Given the description of an element on the screen output the (x, y) to click on. 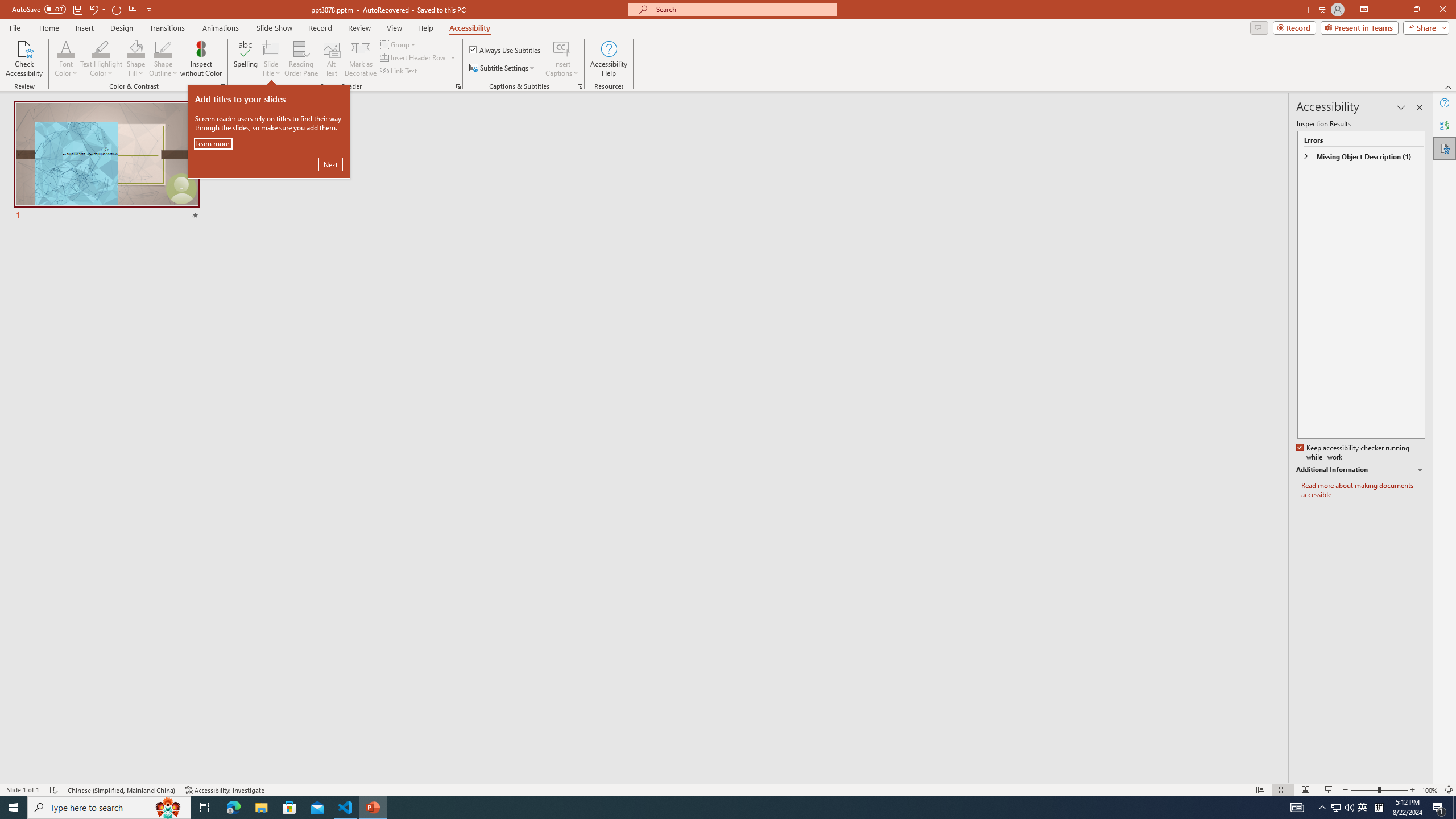
Running applications (707, 807)
Subtitle Settings (502, 67)
Keep accessibility checker running while I work (1353, 452)
